Given the description of an element on the screen output the (x, y) to click on. 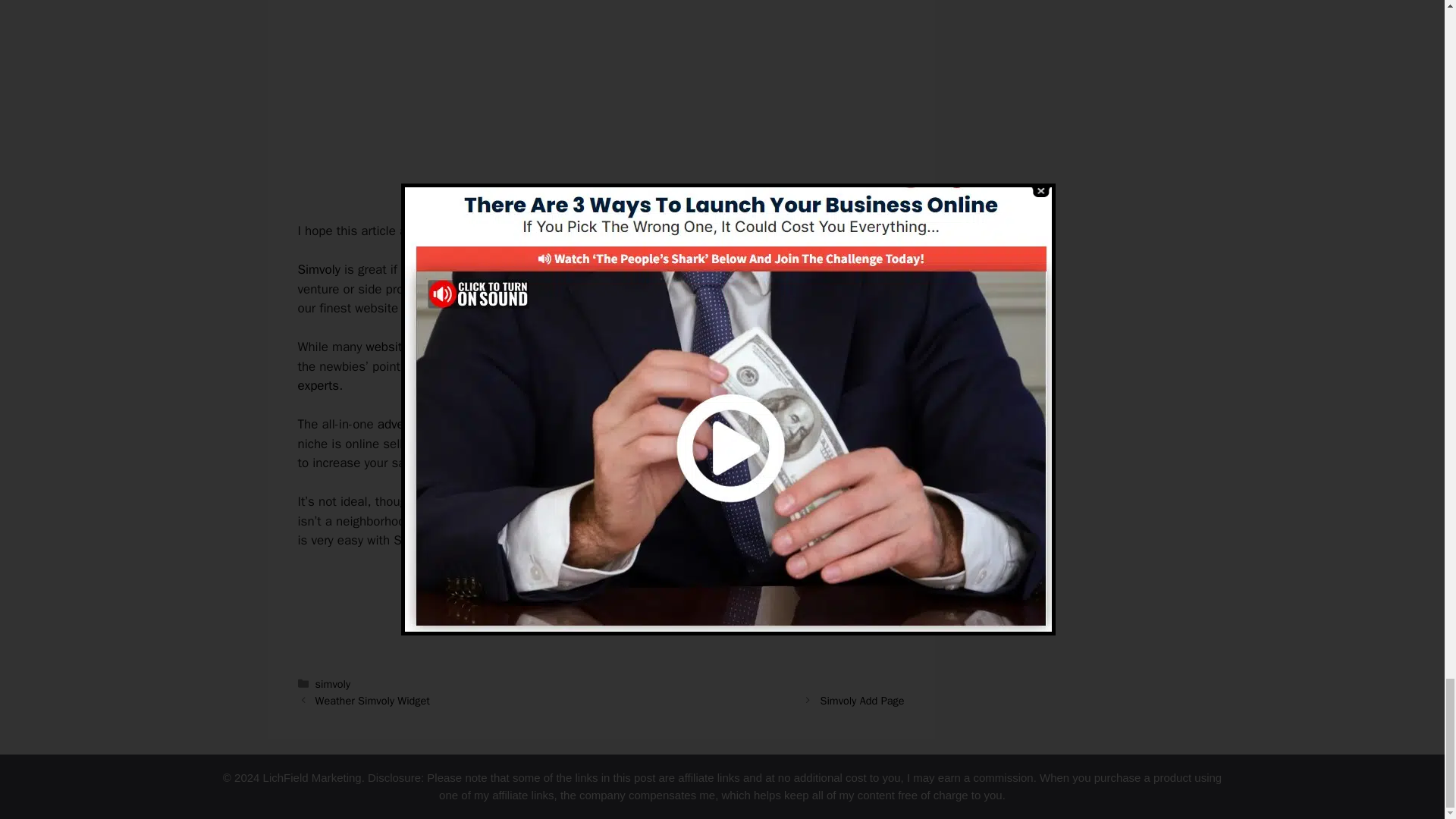
Weather Simvoly Widget (372, 700)
advertising (407, 424)
high converting sales funnels (598, 269)
website (387, 346)
digital marketing experts (584, 375)
simvoly (332, 684)
Simvoly (318, 269)
Try Simvoly Here (600, 592)
Simvoly Add Page (861, 700)
